Given the description of an element on the screen output the (x, y) to click on. 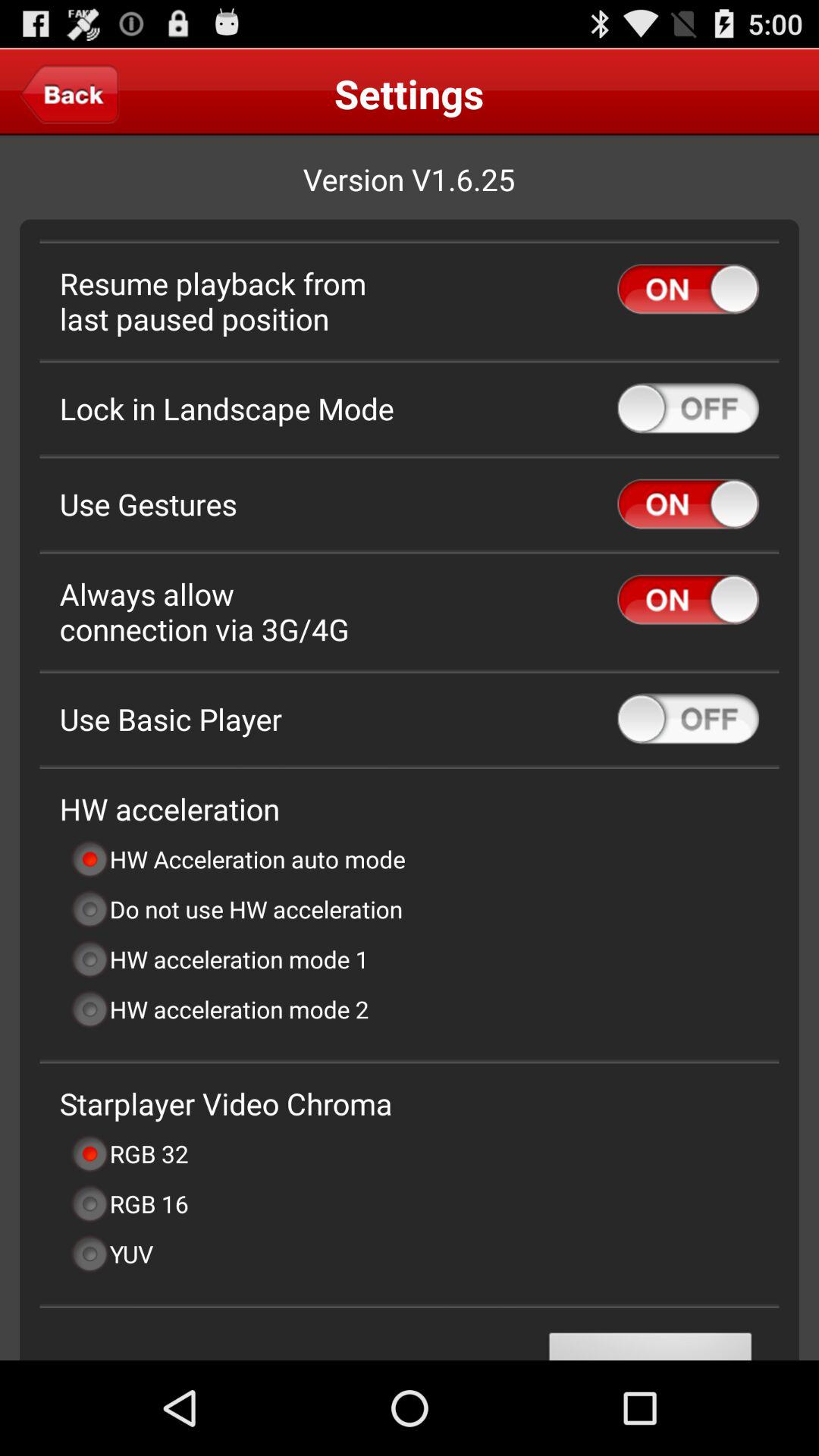
scroll to the yuv (111, 1254)
